Given the description of an element on the screen output the (x, y) to click on. 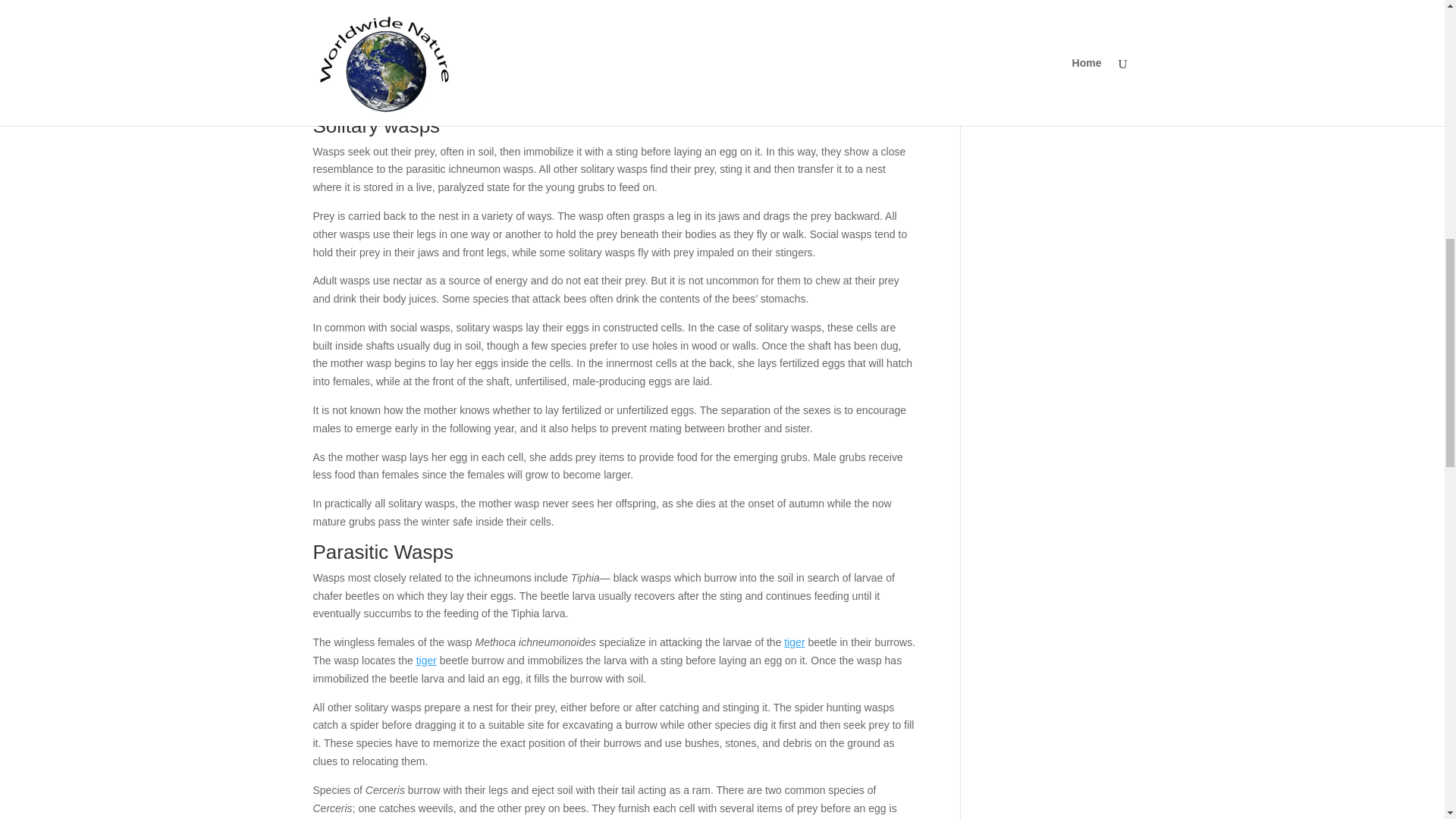
tiger (426, 660)
tiger (426, 660)
tiger (794, 642)
tiger (794, 642)
